Given the description of an element on the screen output the (x, y) to click on. 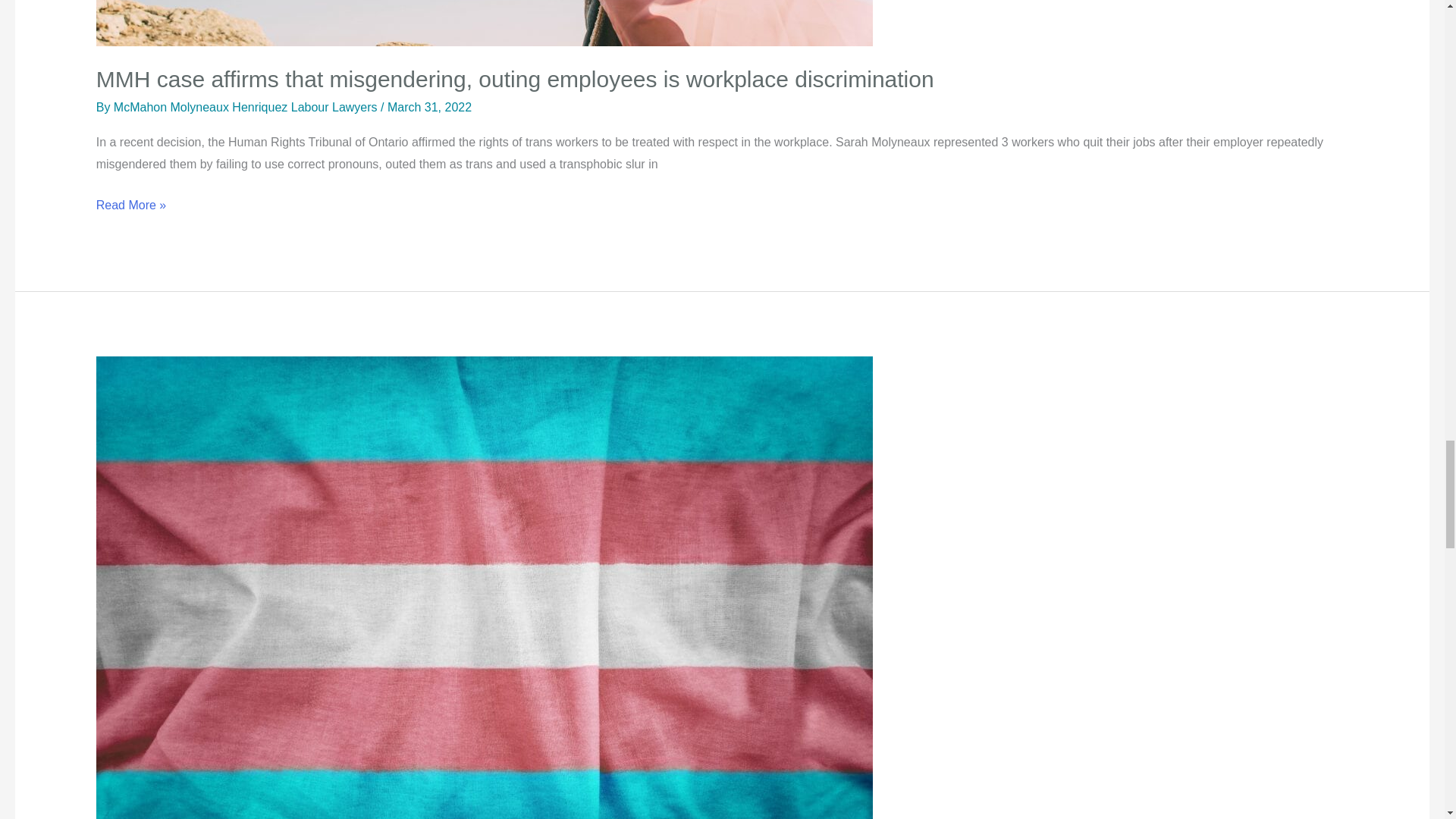
View all posts by McMahon Molyneaux Henriquez Labour Lawyers (246, 106)
McMahon Molyneaux Henriquez Labour Lawyers (246, 106)
